Given the description of an element on the screen output the (x, y) to click on. 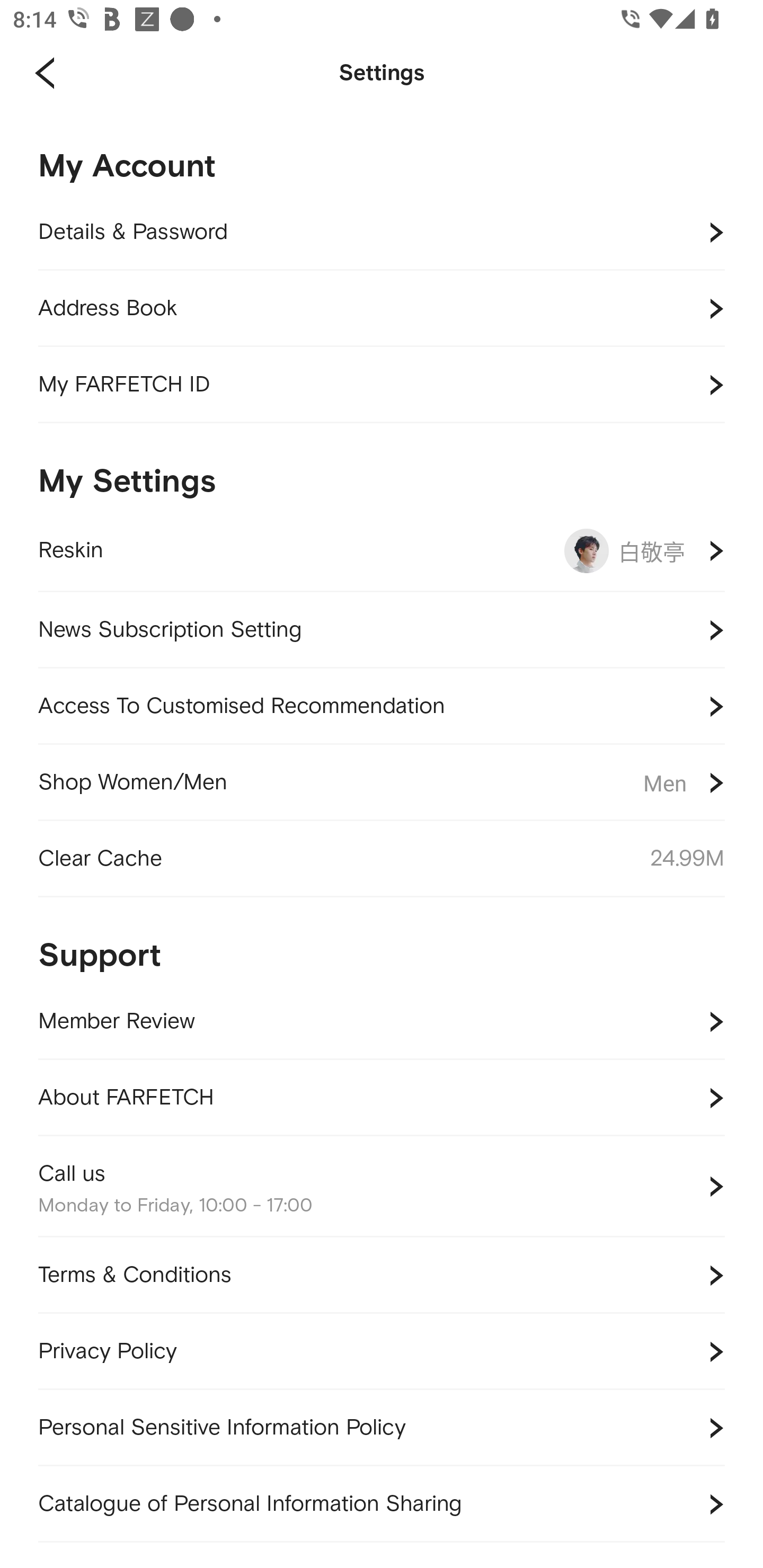
Details & Password (381, 232)
Address Book (381, 308)
My FARFETCH ID (381, 384)
Reskin 白敬亭 (381, 550)
News Subscription Setting (381, 629)
Access To Customised Recommendation (381, 705)
Shop Women/Men Men (381, 782)
Clear Cache 24.99M (381, 858)
Member Review (381, 1021)
About FARFETCH (381, 1097)
Call us Monday to Friday, 10:00 - 17:00 (381, 1186)
Terms & Conditions (381, 1275)
Privacy Policy (381, 1351)
Personal Sensitive Information Policy (381, 1427)
Catalogue of Personal Information Sharing (381, 1504)
